Given the description of an element on the screen output the (x, y) to click on. 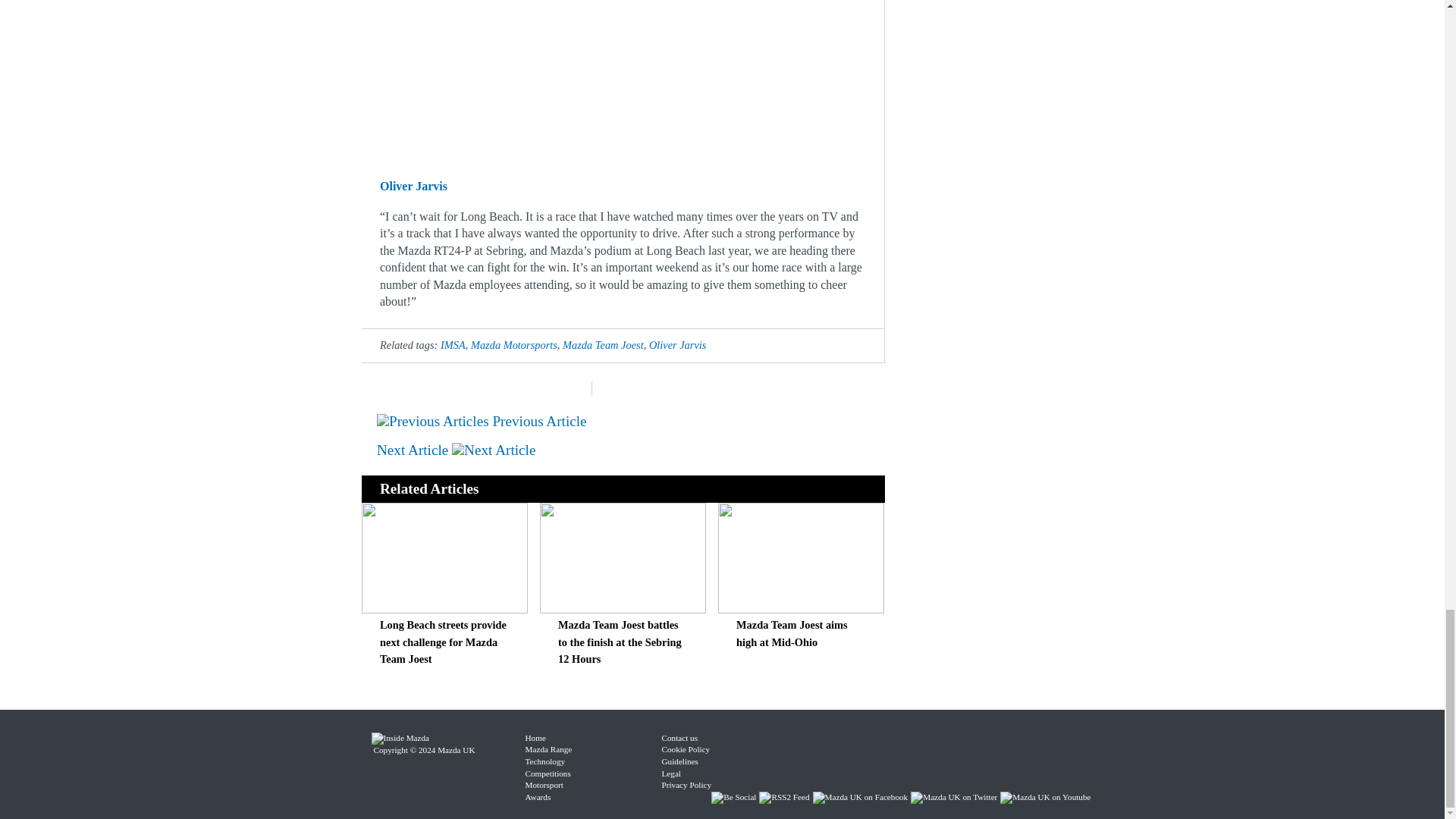
Next Article (456, 449)
Mazda Motorsports (513, 345)
Mazda Team Joest (602, 345)
Previous Article (481, 421)
Mazda Team Joest aims high at Mid-Ohio (800, 608)
Mazda UK on Facebook (861, 796)
Inside Mazda (400, 737)
Oliver Jarvis (413, 185)
IMSA (453, 345)
Mazda Team Joest aims high at Mid-Ohio (791, 633)
Oliver Jarvis (677, 345)
RSS2 Feed (785, 796)
